Given the description of an element on the screen output the (x, y) to click on. 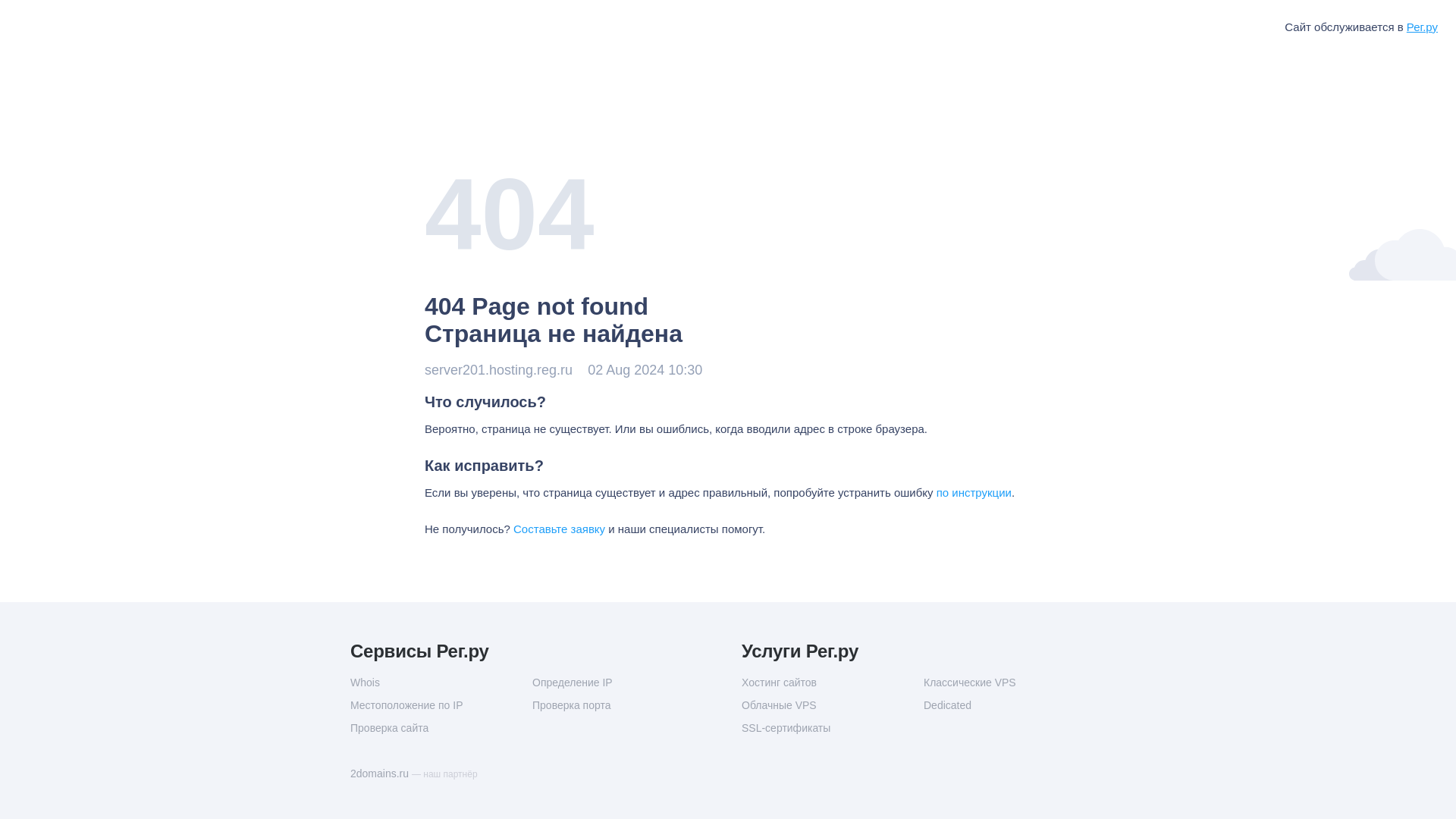
Whois (441, 682)
Dedicated (1014, 705)
2domains.ru (381, 773)
